Given the description of an element on the screen output the (x, y) to click on. 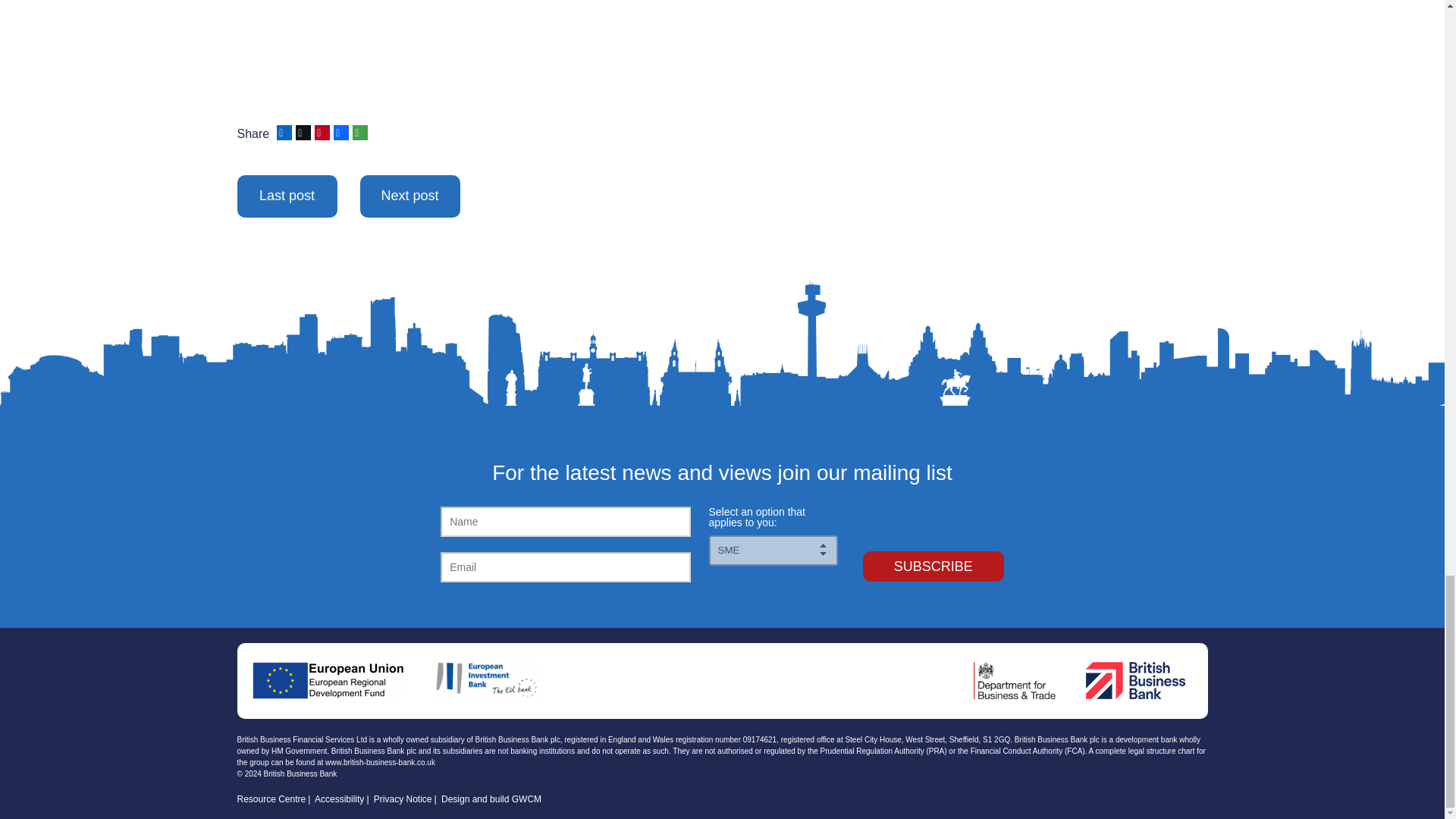
More Options (358, 132)
LinkedIn (282, 132)
Subscribe (933, 566)
Pinterest (320, 132)
Facebook (339, 132)
